Given the description of an element on the screen output the (x, y) to click on. 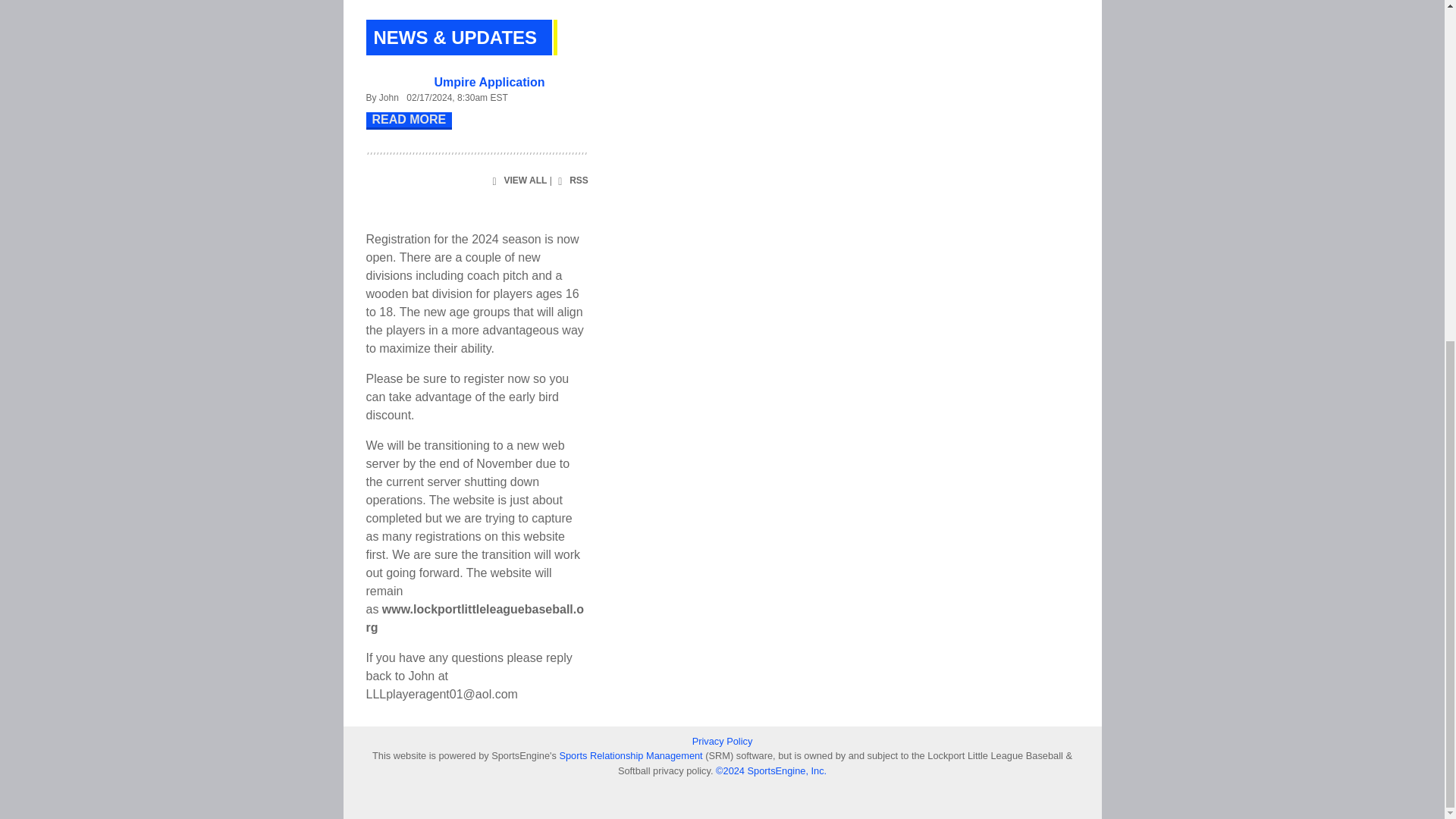
VIEW ALL (517, 181)
RSS (571, 181)
Privacy Policy (722, 740)
Subscribe to RSS Feed (571, 181)
Sports Relationship Management (631, 755)
Umpire Application (488, 82)
READ MORE (408, 120)
View All (517, 181)
